Given the description of an element on the screen output the (x, y) to click on. 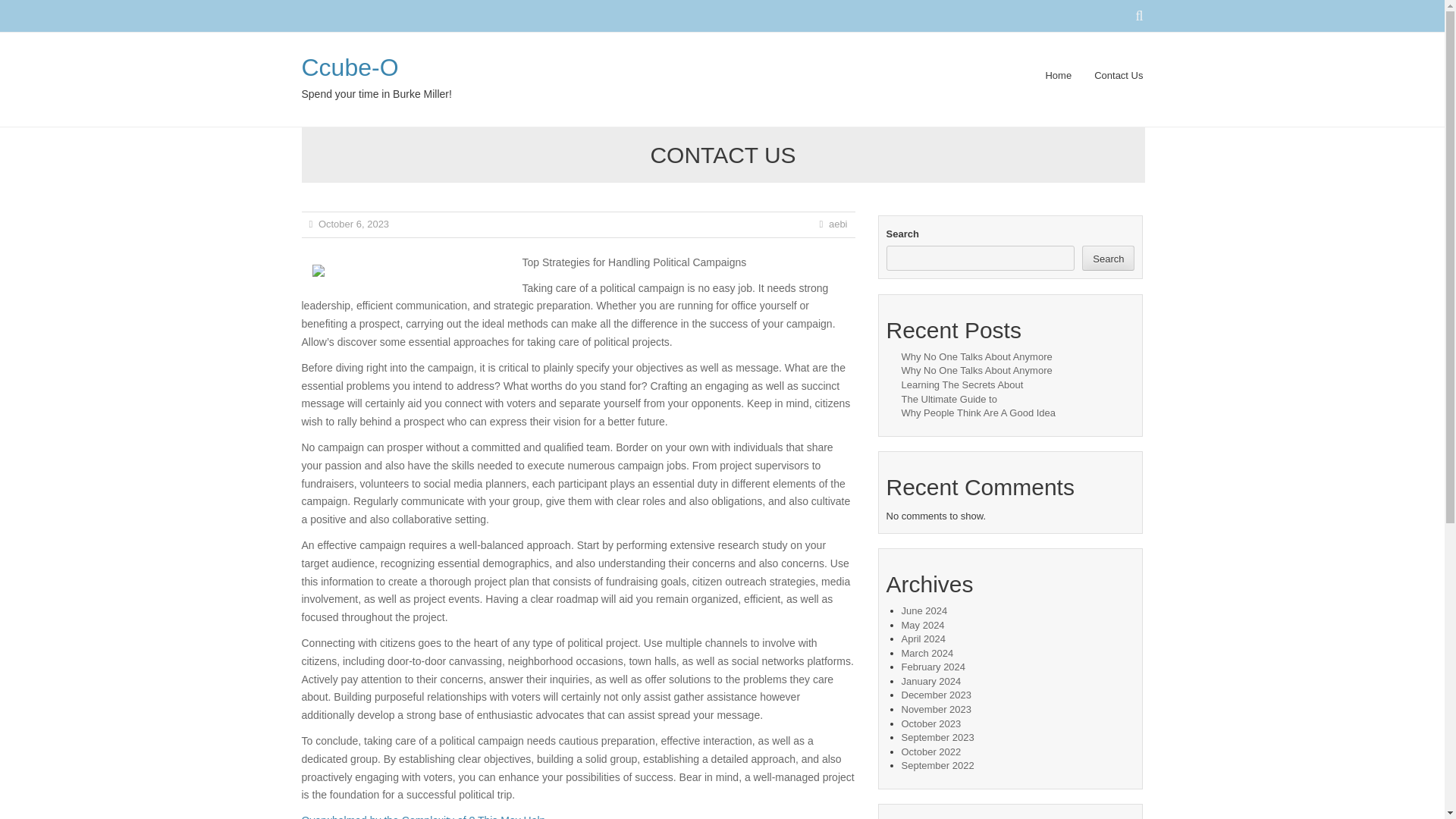
September 2022 (937, 765)
February 2024 (933, 666)
The Ultimate Guide to (948, 398)
March 2024 (927, 653)
January 2024 (930, 681)
September 2023 (937, 737)
Overwhelmed by the Complexity of ? This May Help (423, 816)
November 2023 (936, 708)
Ccube-O (349, 67)
Learning The Secrets About (962, 384)
Why No One Talks About Anymore (976, 369)
October 6, 2023 (353, 224)
December 2023 (936, 695)
May 2024 (922, 624)
Why People Think Are A Good Idea (978, 412)
